Given the description of an element on the screen output the (x, y) to click on. 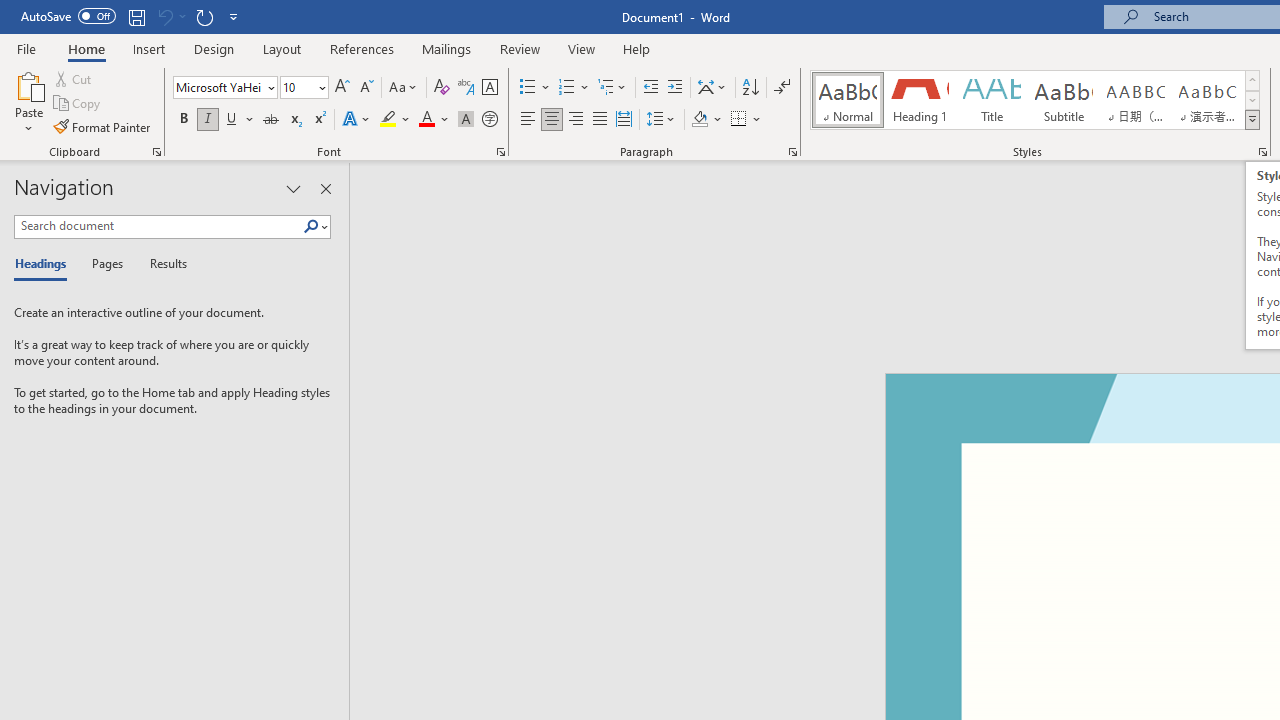
Can't Undo (164, 15)
Row up (1252, 79)
Subscript (294, 119)
Shrink Font (365, 87)
Character Border (489, 87)
Can't Undo (170, 15)
Sort... (750, 87)
